Given the description of an element on the screen output the (x, y) to click on. 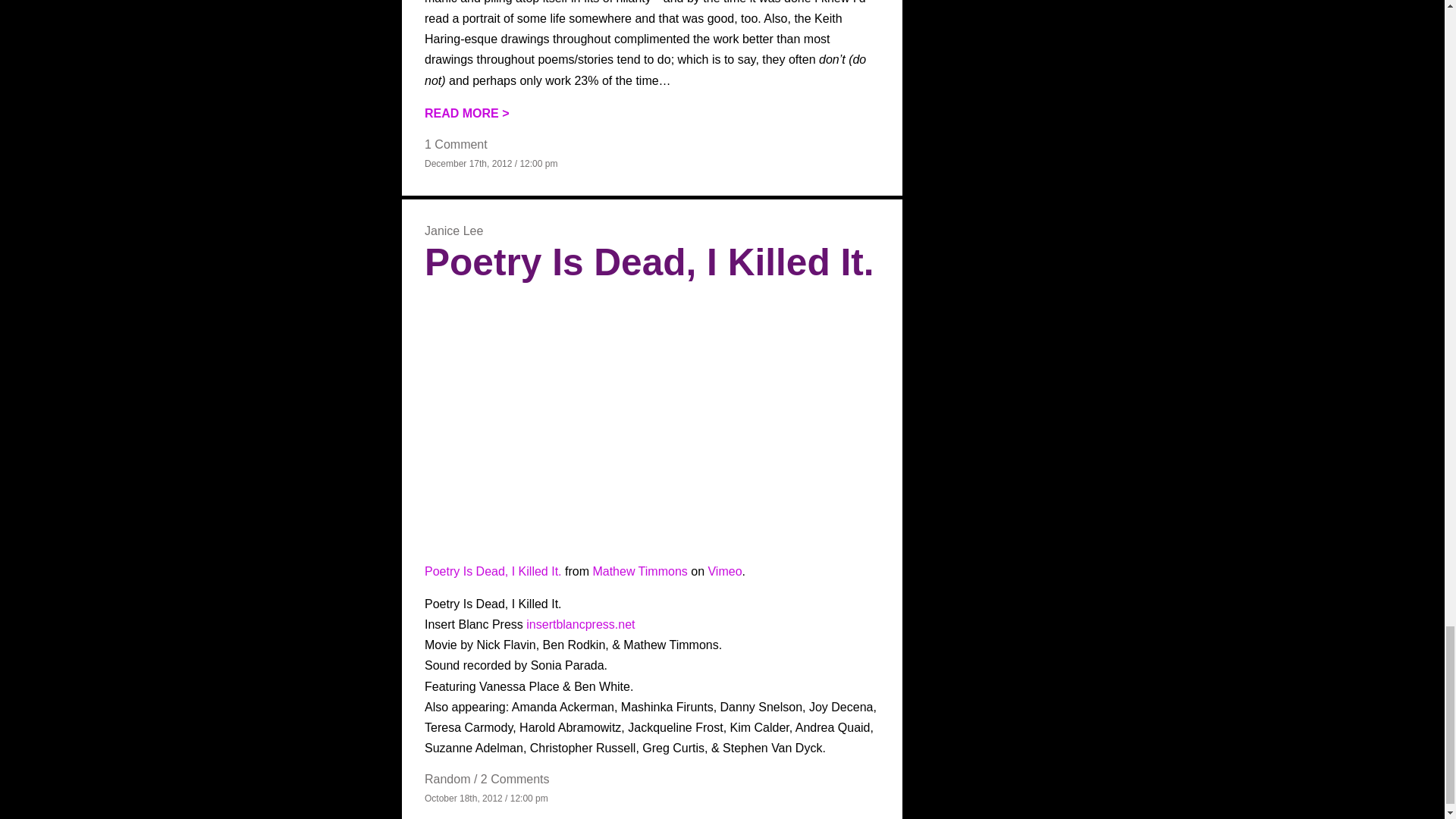
Poetry Is Dead, I Killed It. (493, 571)
1 Comment (456, 144)
insertblancpress.net (579, 624)
2 Comments (515, 779)
Mathew Timmons (639, 571)
Posts by Janice Lee (454, 230)
Vimeo (724, 571)
Janice Lee (454, 230)
Poetry Is Dead, I Killed It. (650, 261)
Random (447, 779)
